Given the description of an element on the screen output the (x, y) to click on. 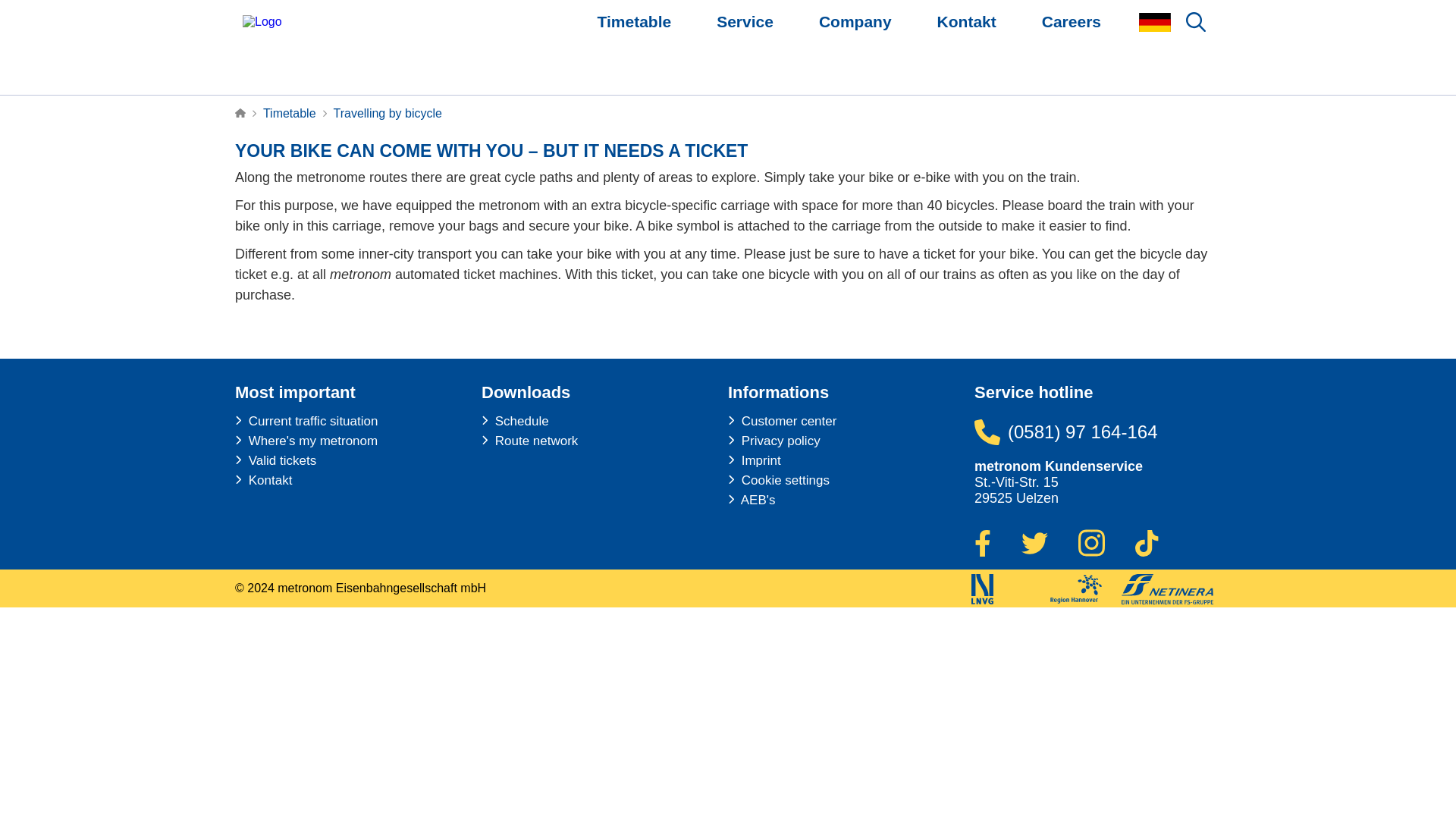
metronom (324, 47)
Route network (529, 441)
Service (745, 47)
Schedule (514, 421)
Current traffic situation (305, 421)
Company (855, 47)
Company (855, 47)
Where's my metronom (305, 441)
Timetable (634, 47)
metronom (323, 47)
